Given the description of an element on the screen output the (x, y) to click on. 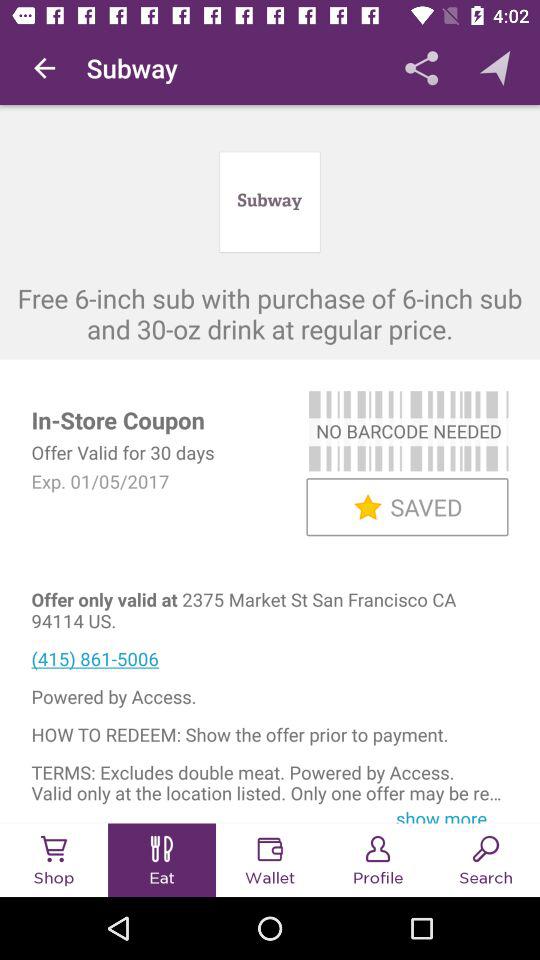
press app to the right of subway icon (421, 67)
